Given the description of an element on the screen output the (x, y) to click on. 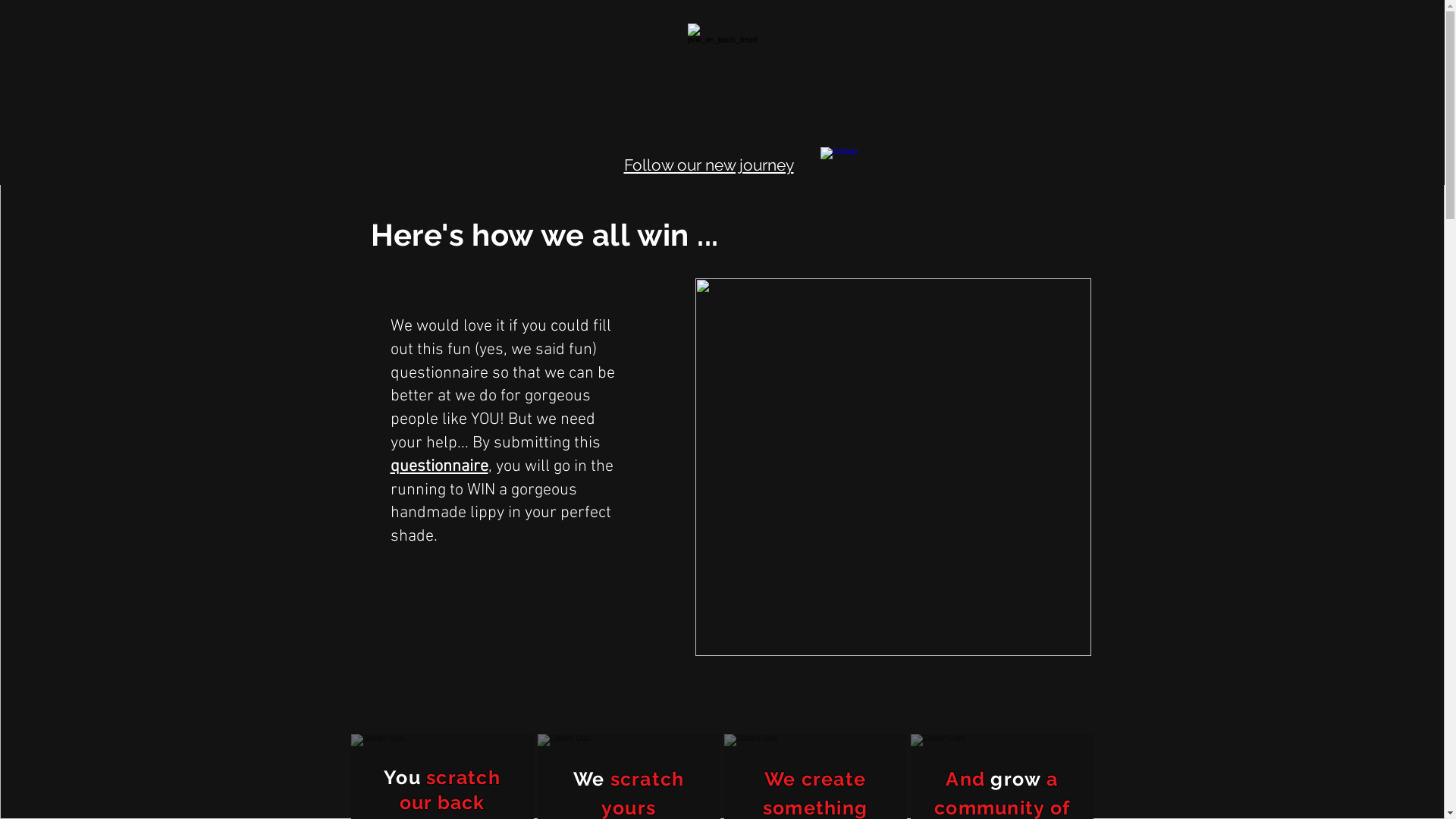
questionnaire Element type: text (438, 466)
Follow our new journey Element type: text (708, 165)
Image Copyright Eva Schroeder Photographer 2019_edited.jpg Element type: hover (892, 466)
